Given the description of an element on the screen output the (x, y) to click on. 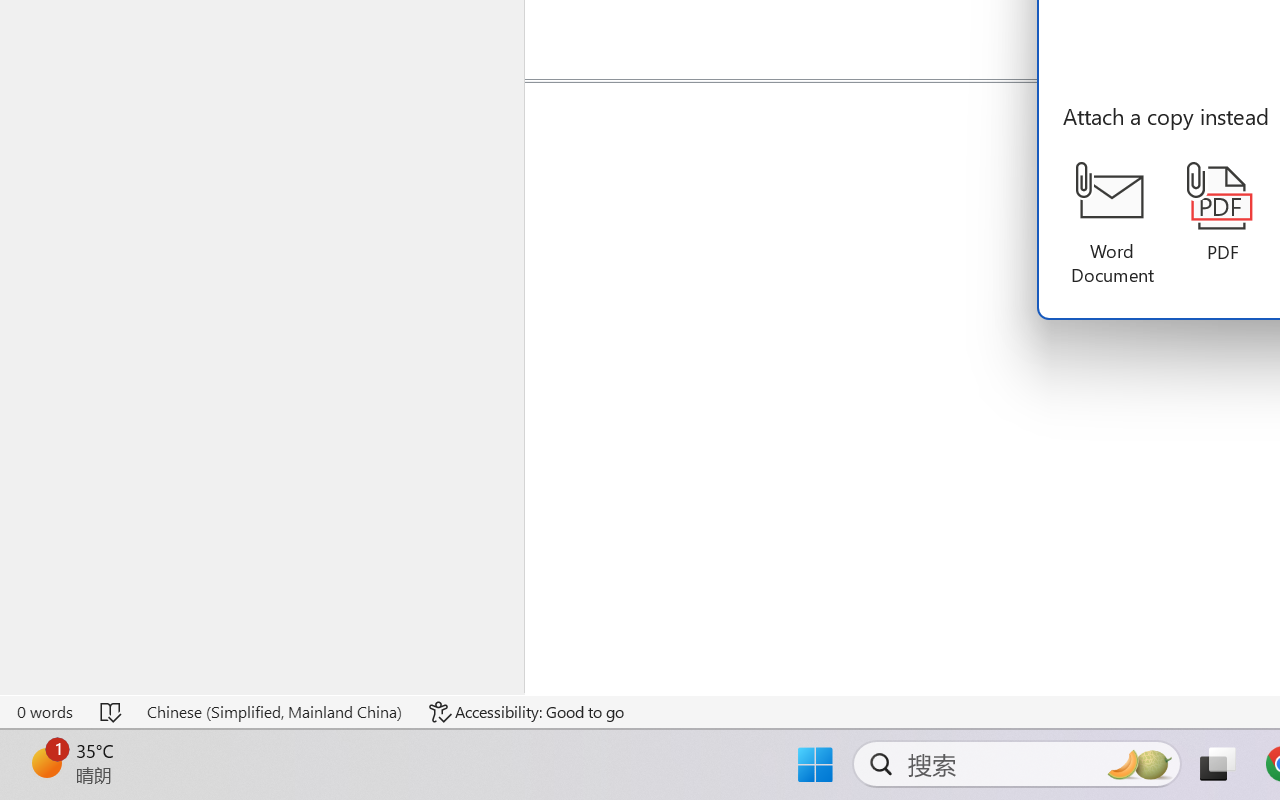
PDF (1222, 213)
Word Document (1112, 224)
